Given the description of an element on the screen output the (x, y) to click on. 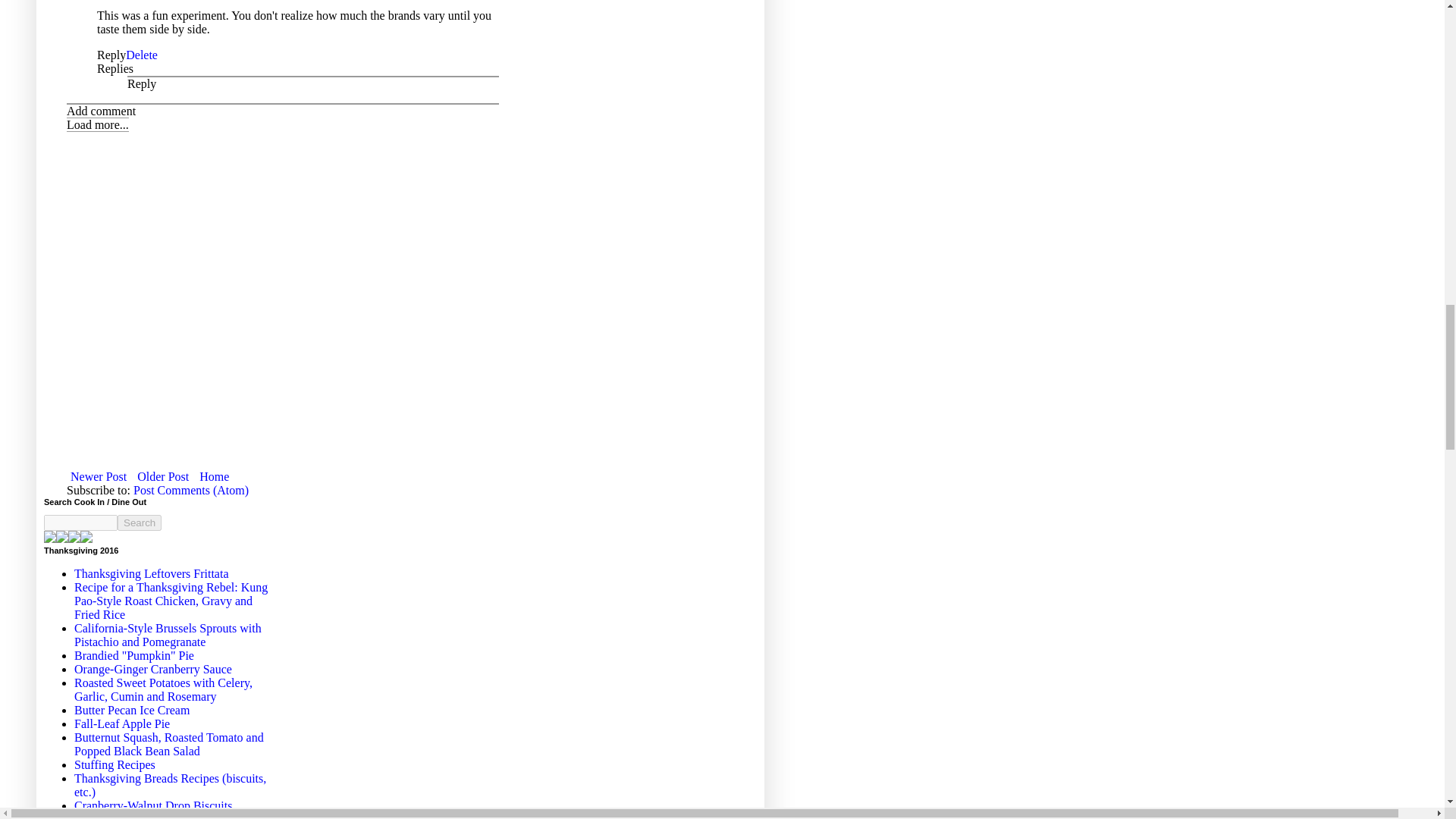
search (139, 522)
Search (139, 522)
Load more... (97, 124)
Older Post (162, 476)
Home (213, 476)
Older Post (162, 476)
Add comment (100, 110)
Search (139, 522)
Replies (115, 68)
search (80, 522)
